Given the description of an element on the screen output the (x, y) to click on. 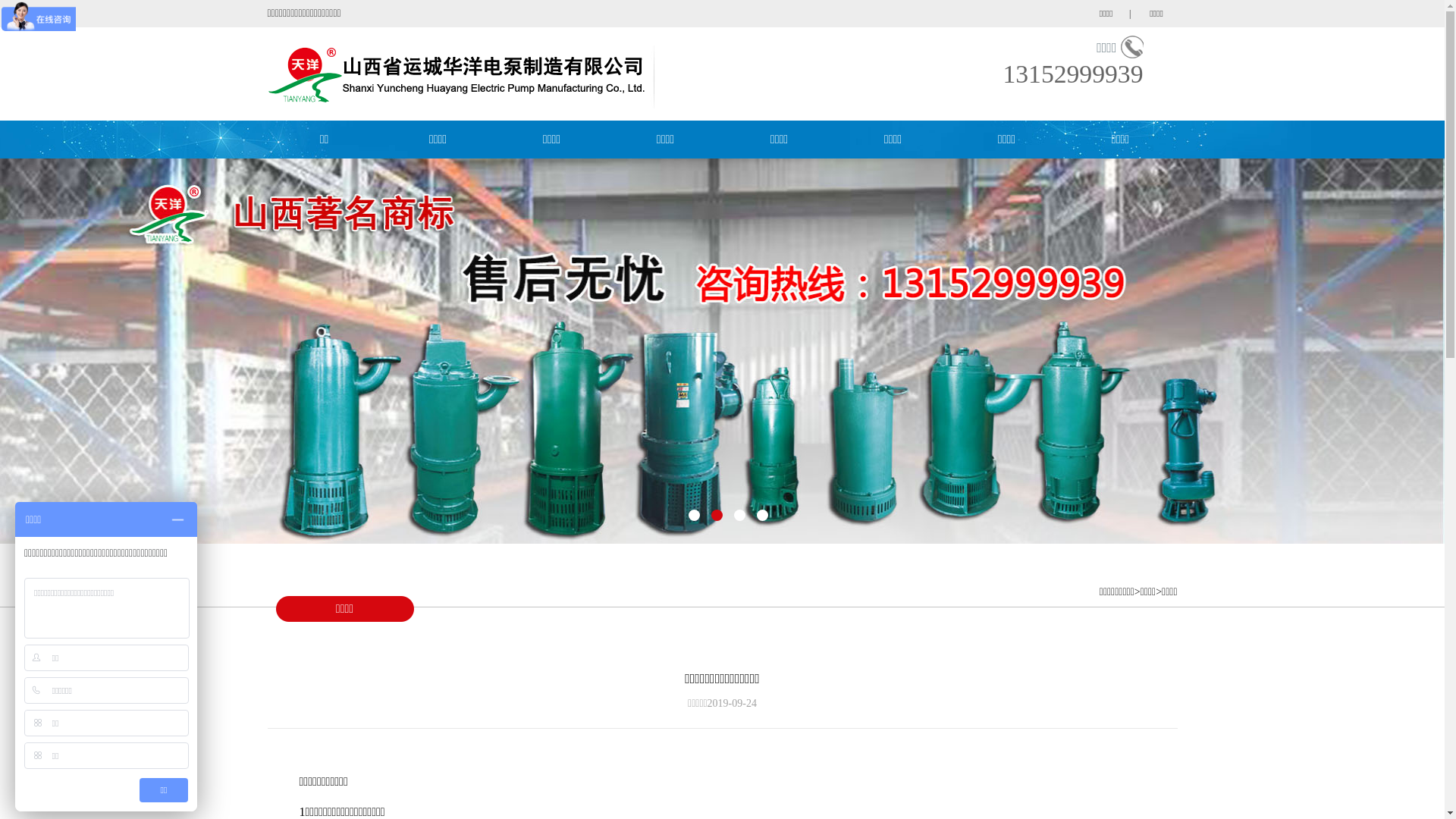
4 Element type: text (762, 514)
1 Element type: text (693, 514)
2 Element type: text (716, 514)
3 Element type: text (739, 514)
